Given the description of an element on the screen output the (x, y) to click on. 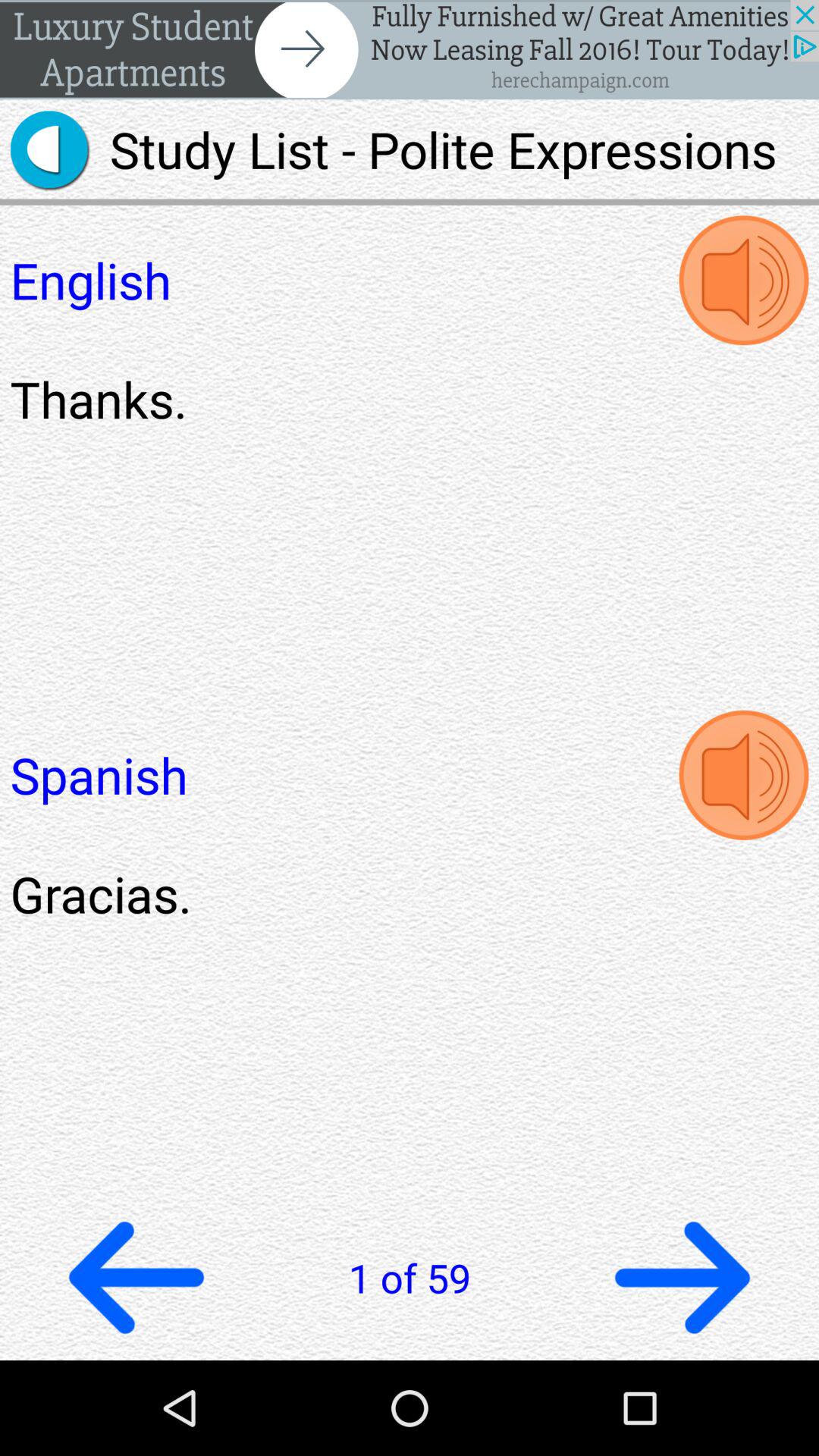
go to next page (682, 1277)
